Given the description of an element on the screen output the (x, y) to click on. 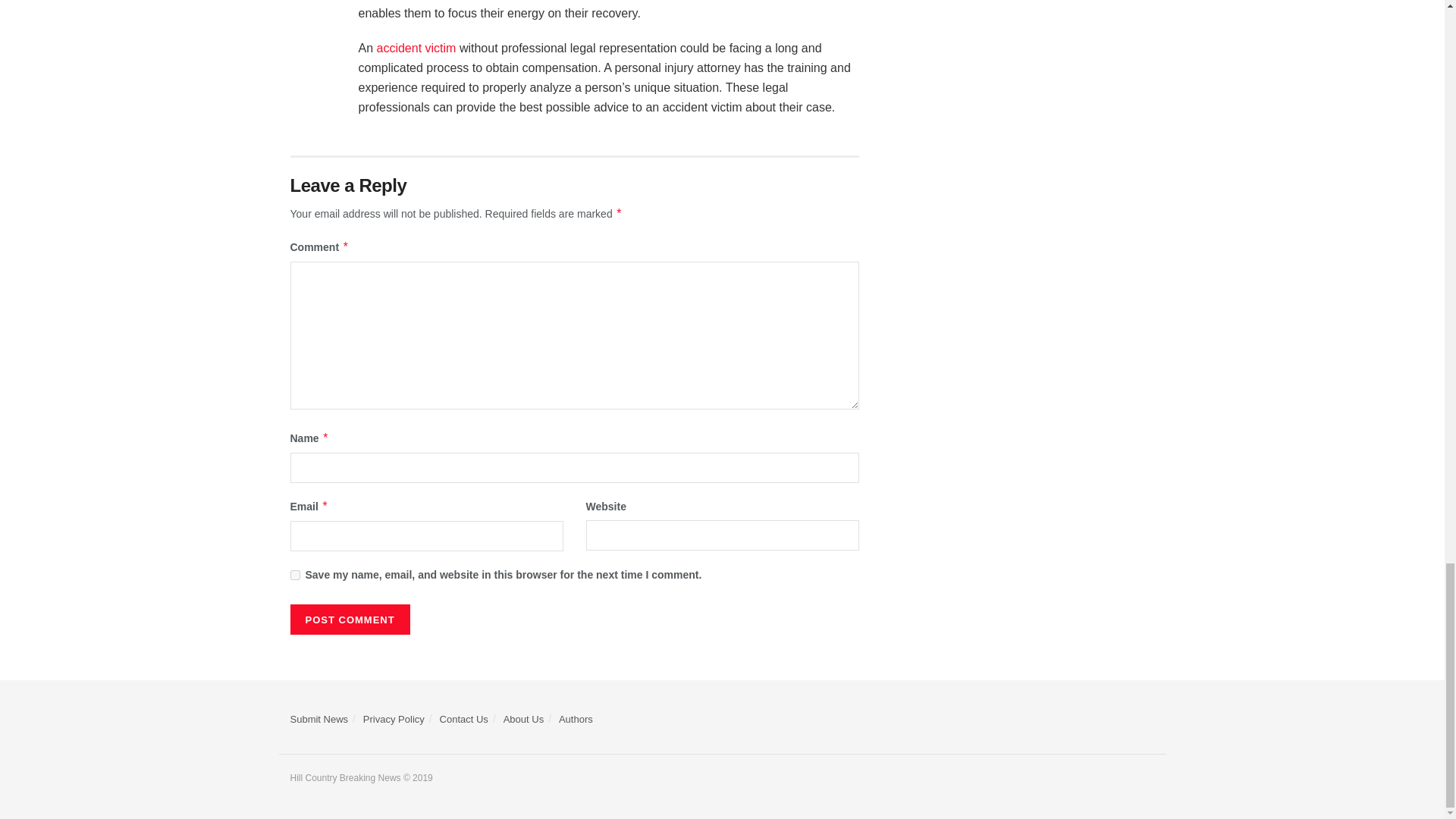
Post Comment (349, 619)
yes (294, 574)
Post Comment (349, 619)
accident victim (417, 47)
